Given the description of an element on the screen output the (x, y) to click on. 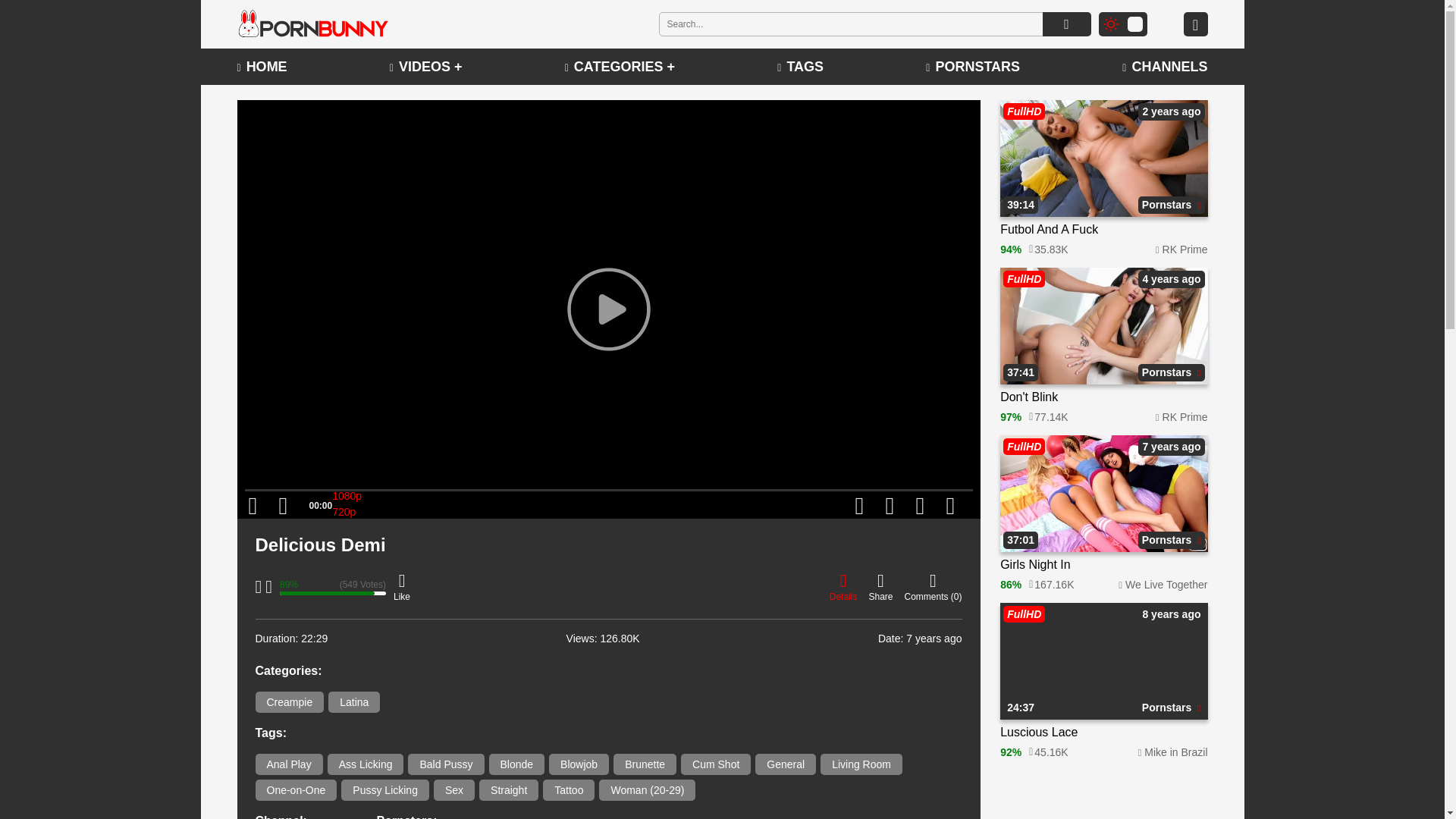
TAGS (800, 66)
ThePornBunny (311, 24)
PORNSTARS (973, 66)
HOME (260, 66)
CHANNELS (1164, 66)
